Given the description of an element on the screen output the (x, y) to click on. 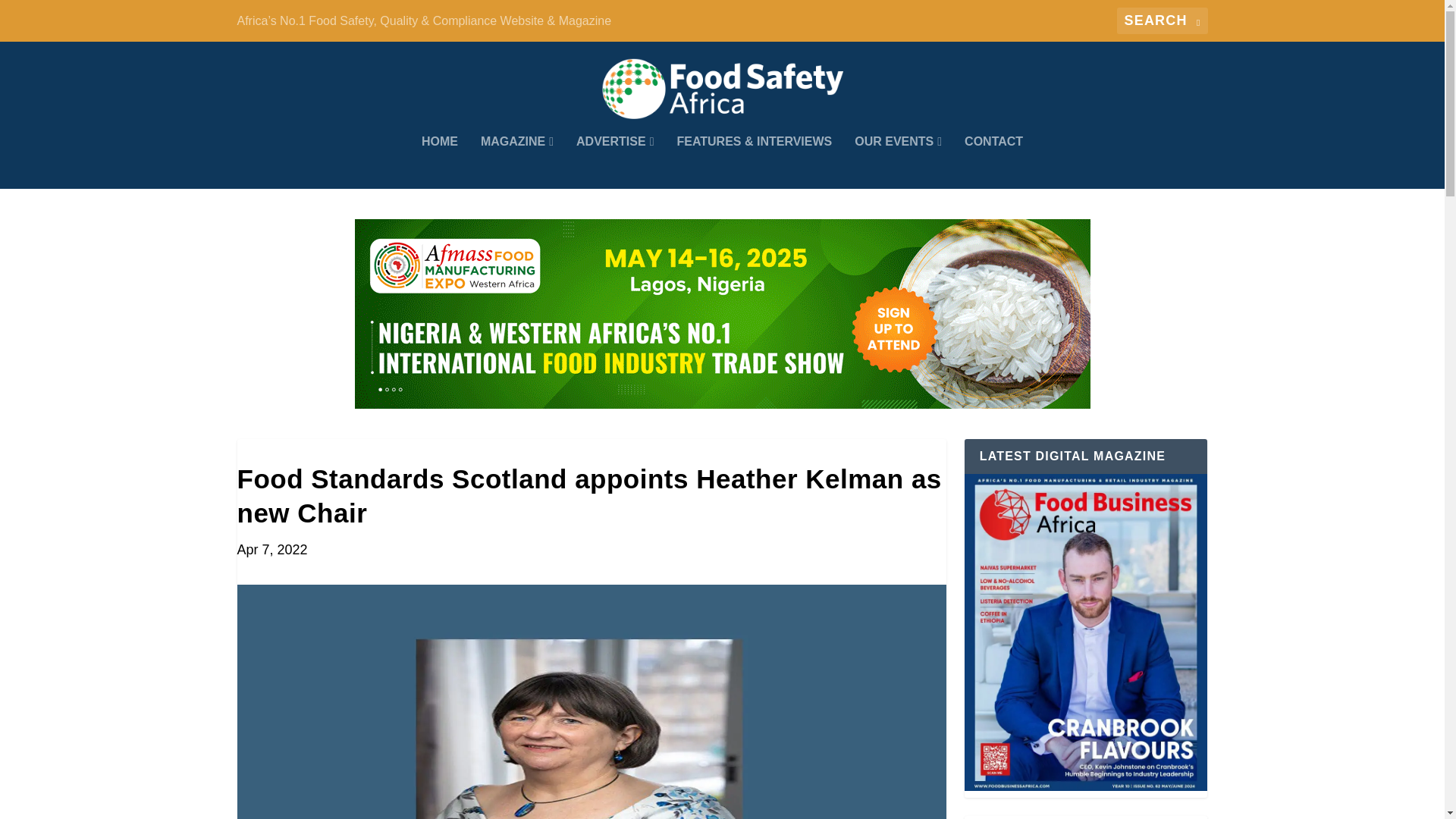
CONTACT (993, 162)
OUR EVENTS (898, 162)
Search for: (1161, 20)
MAGAZINE (516, 162)
ADVERTISE (614, 162)
